Given the description of an element on the screen output the (x, y) to click on. 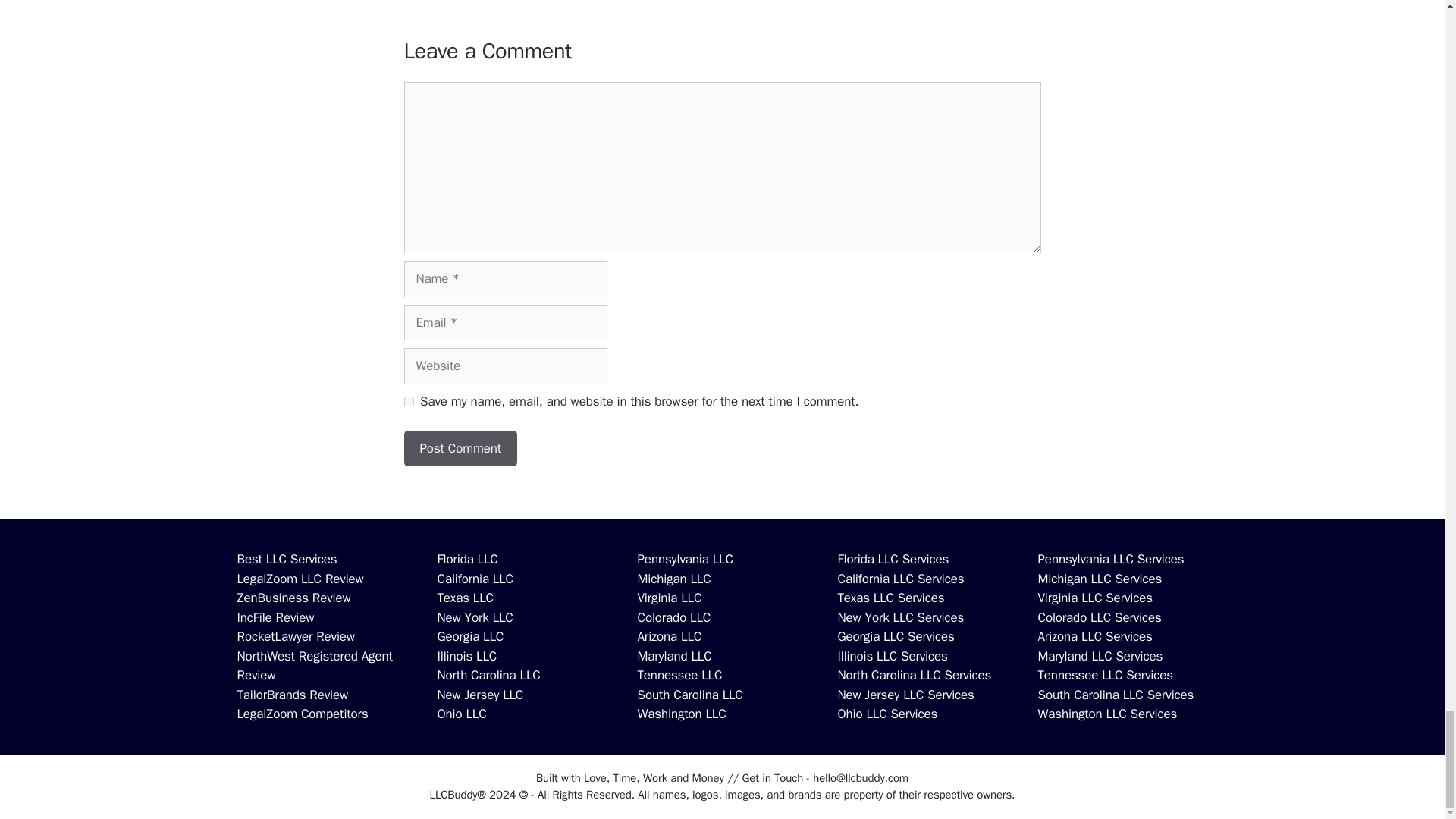
How to Start an LLC in North Carolina (488, 675)
How to Start an LLC in Florida (466, 559)
How to Start an LLC in New York (474, 617)
How to Start an LLC in California (474, 578)
How to Start an LLC in Texas (464, 597)
How to Start an LLC in Georgia (469, 636)
yes (408, 401)
Post Comment (459, 448)
How to Start an LLC in Illinois (466, 656)
